Given the description of an element on the screen output the (x, y) to click on. 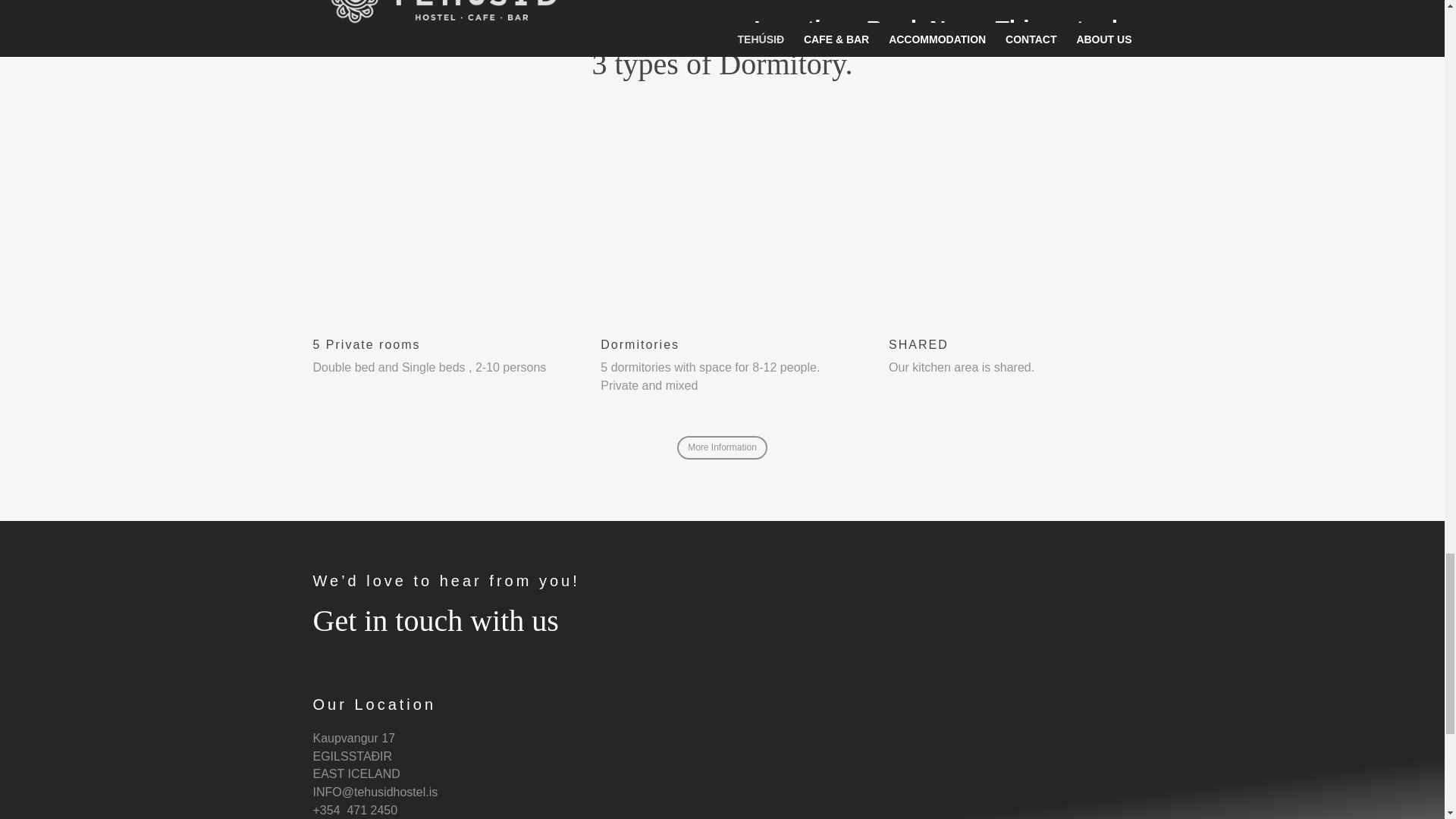
More Information (722, 447)
